Given the description of an element on the screen output the (x, y) to click on. 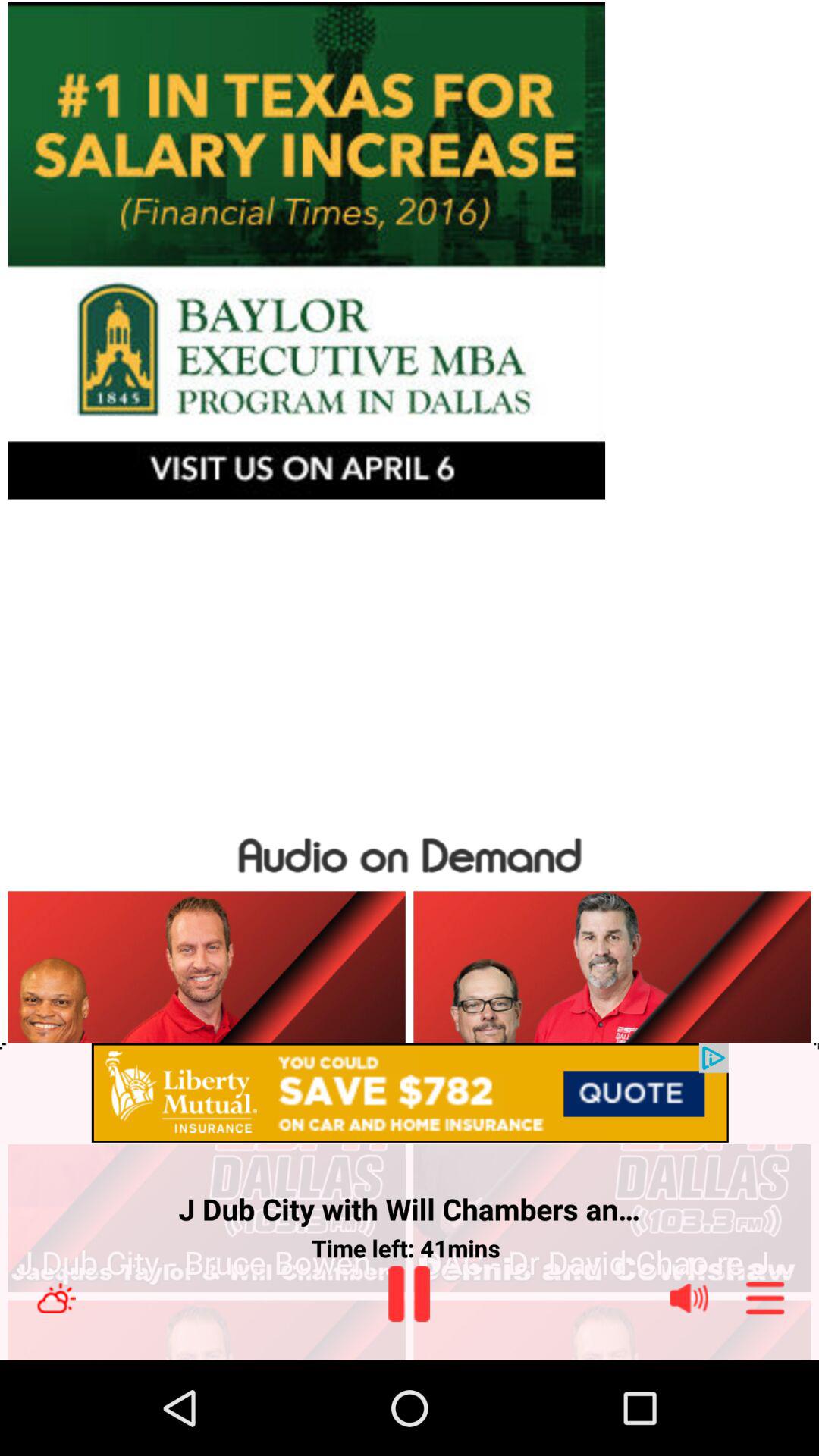
view weather (56, 1298)
